Given the description of an element on the screen output the (x, y) to click on. 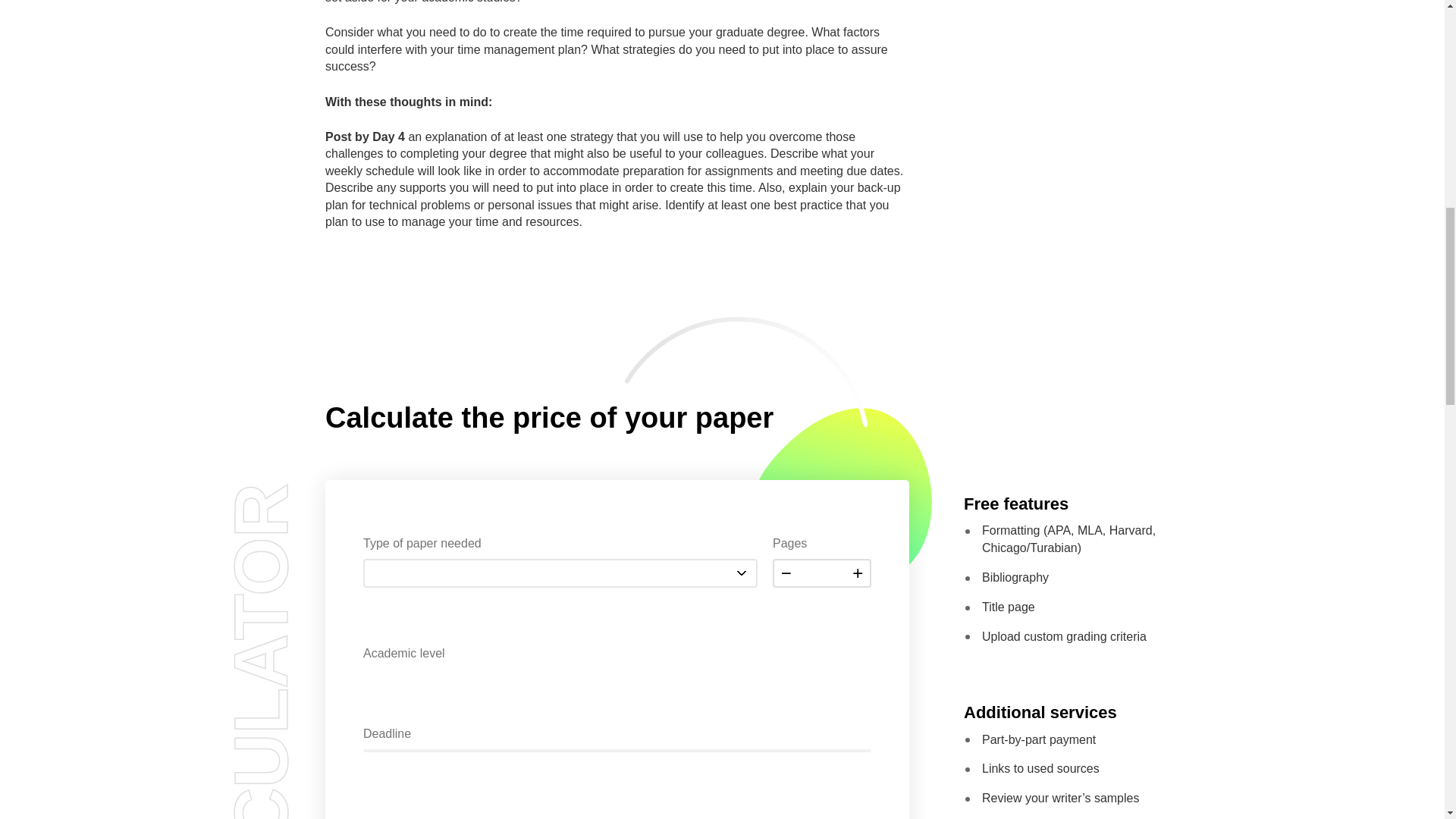
Decrease (785, 573)
Increase (857, 573)
